Given the description of an element on the screen output the (x, y) to click on. 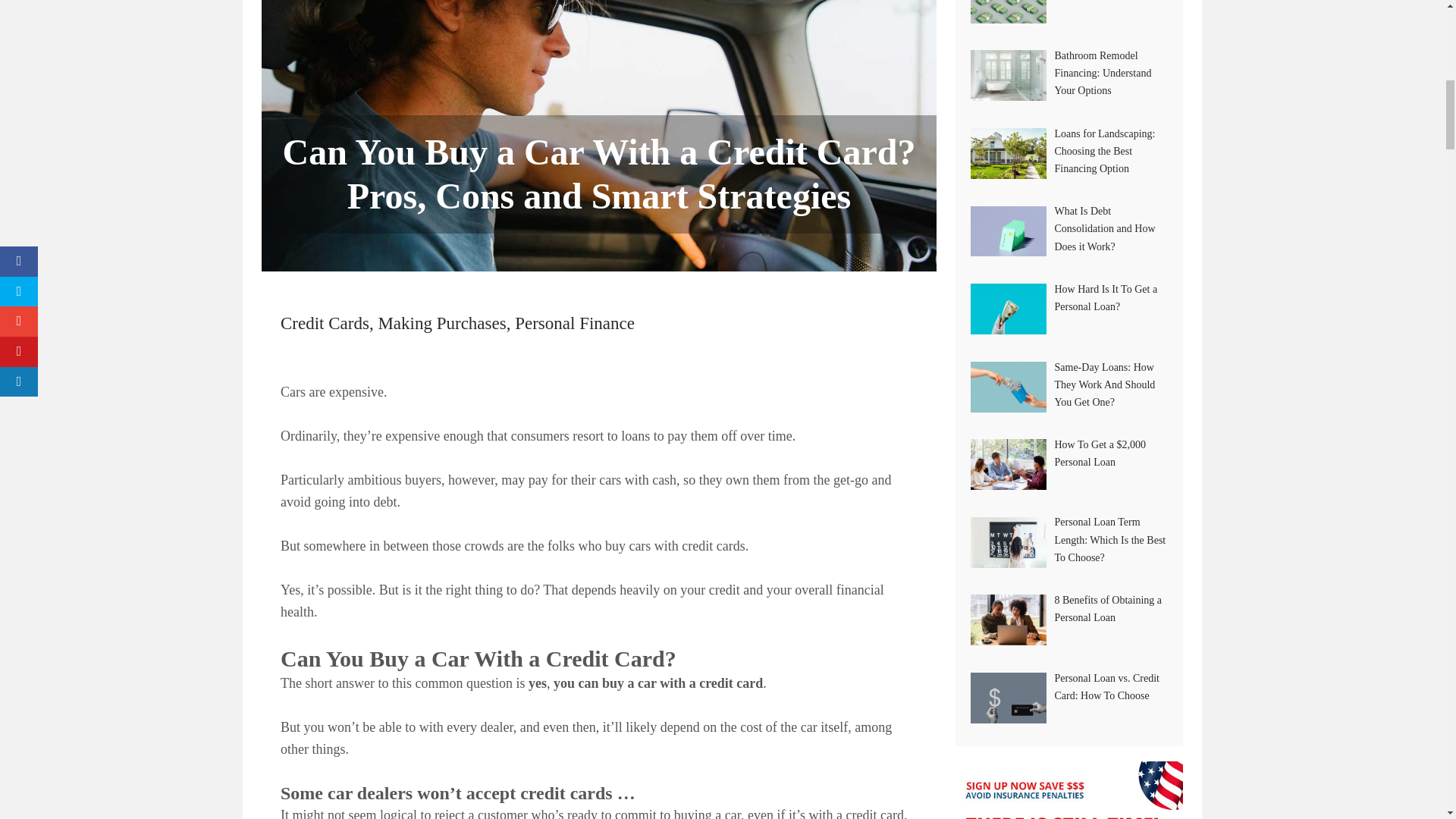
Credit Cards (325, 322)
Personal Finance (574, 322)
Making Purchases (441, 322)
